Given the description of an element on the screen output the (x, y) to click on. 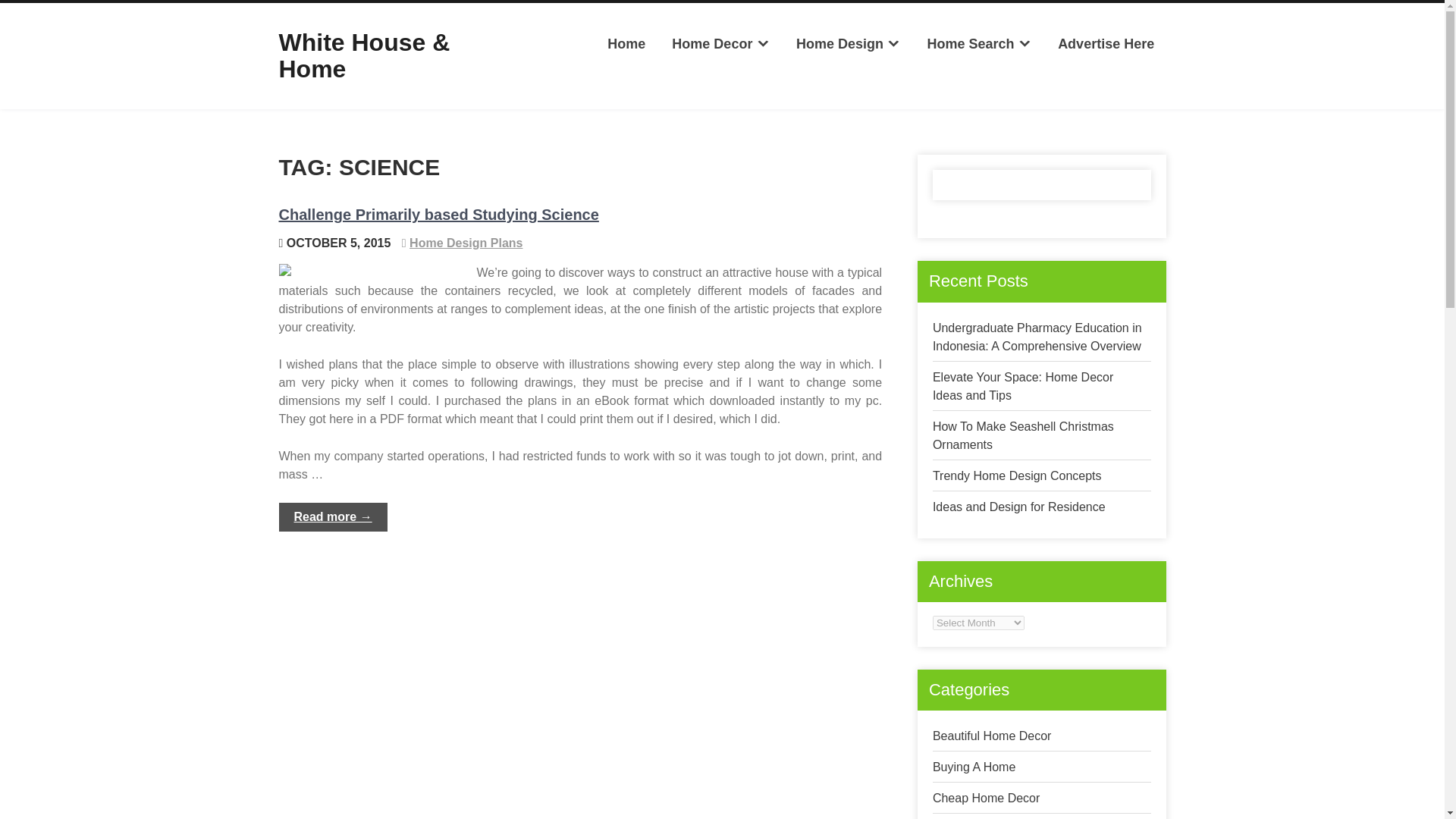
Home Search (978, 44)
Cheap Home Decor (986, 797)
Ideas and Design for Residence (1019, 506)
Home Design (848, 44)
Advertise Here (1106, 44)
Home Design Plans (465, 242)
Buying A Home (973, 766)
Challenge Primarily based Studying Science (438, 214)
Home (626, 44)
How To Make Seashell Christmas Ornaments (1023, 435)
Home Decor (720, 44)
Trendy Home Design Concepts (1017, 475)
Beautiful Home Decor (992, 735)
Elevate Your Space: Home Decor Ideas and Tips (1023, 386)
